Given the description of an element on the screen output the (x, y) to click on. 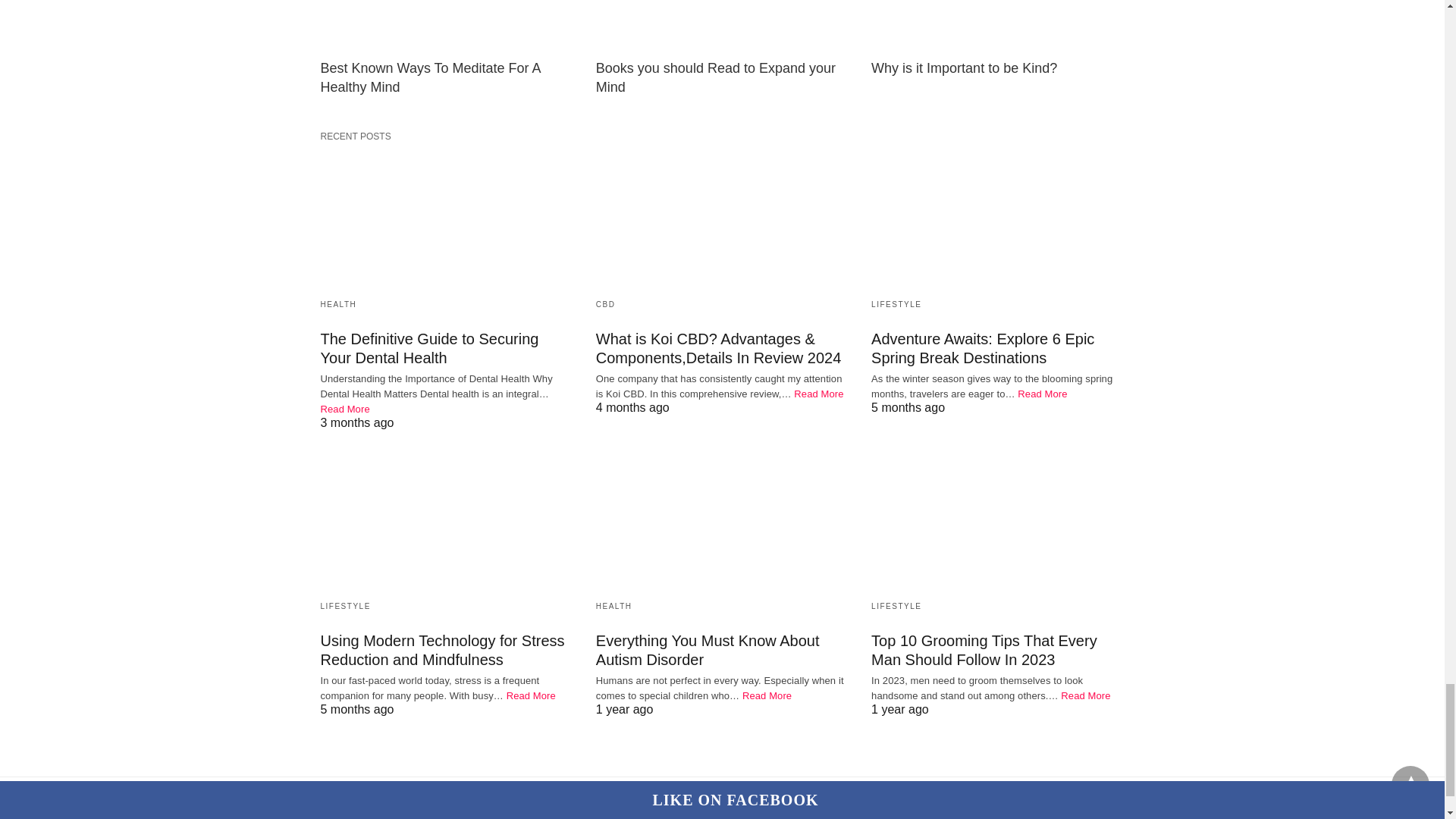
Using Modern Technology for Stress Reduction and Mindfulness (446, 520)
Best Known Ways To Meditate For A Healthy Mind (446, 25)
The Definitive Guide to Securing Your Dental Health (446, 218)
Top 10 Grooming Tips That Every Man Should Follow In 2023 (997, 520)
Books you should Read to Expand your Mind (715, 77)
Why is it Important to be Kind? (963, 68)
Why is it Important to be Kind? (997, 25)
Adventure Awaits: Explore 6 Epic Spring Break Destinations (997, 218)
Best Known Ways To Meditate For A Healthy Mind (430, 77)
Books you should Read to Expand your Mind (721, 25)
Everything You Must Know About Autism Disorder (721, 520)
